Given the description of an element on the screen output the (x, y) to click on. 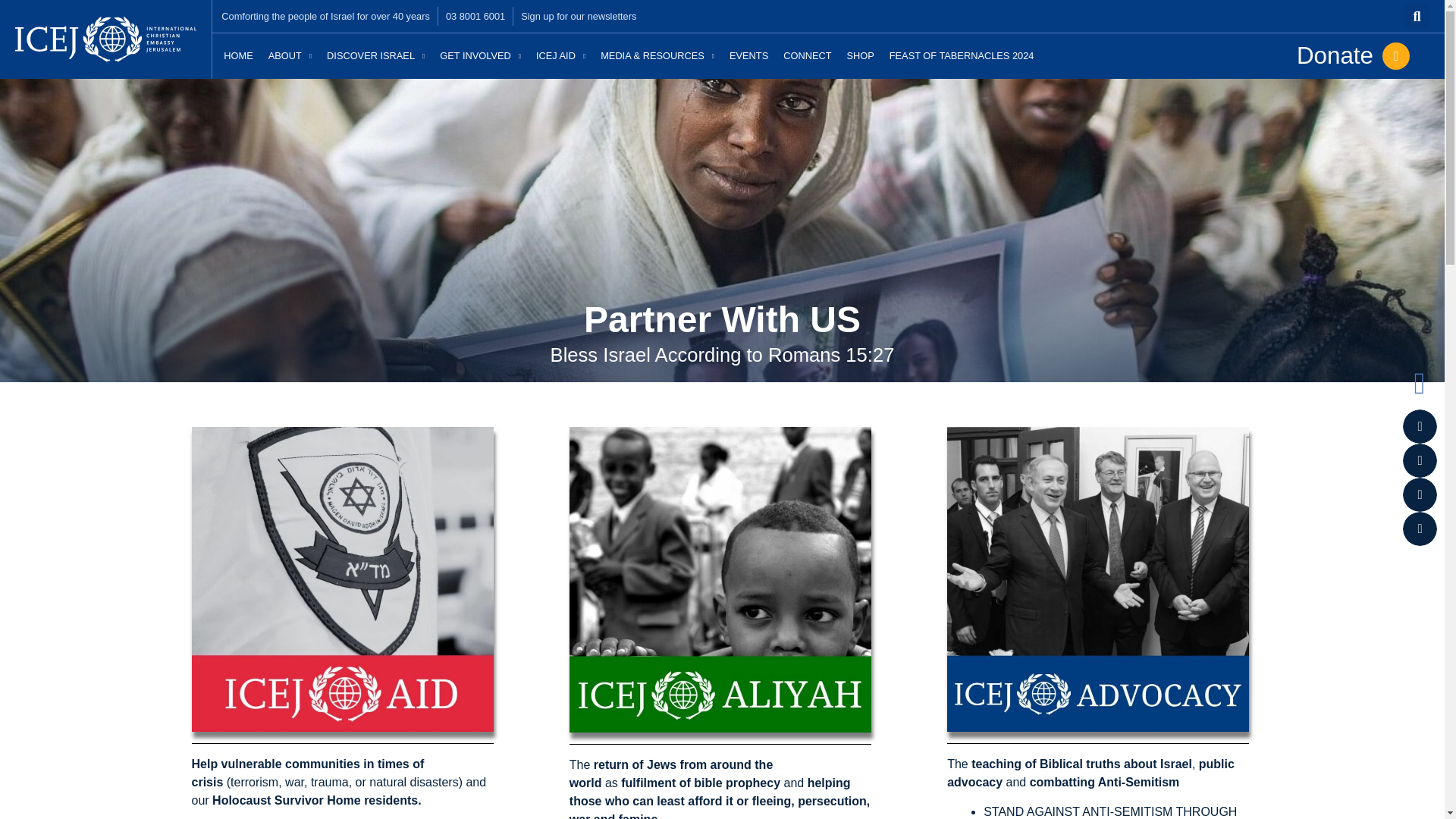
FEAST OF TABERNACLES 2024 (962, 55)
SHOP (859, 55)
HOME (237, 55)
EVENTS (749, 55)
GET INVOLVED (480, 55)
03 8001 6001 (475, 16)
CONNECT (807, 55)
DISCOVER ISRAEL (375, 55)
ABOUT (289, 55)
ICEJ AID (560, 55)
Sign up for our newsletters (578, 16)
